Given the description of an element on the screen output the (x, y) to click on. 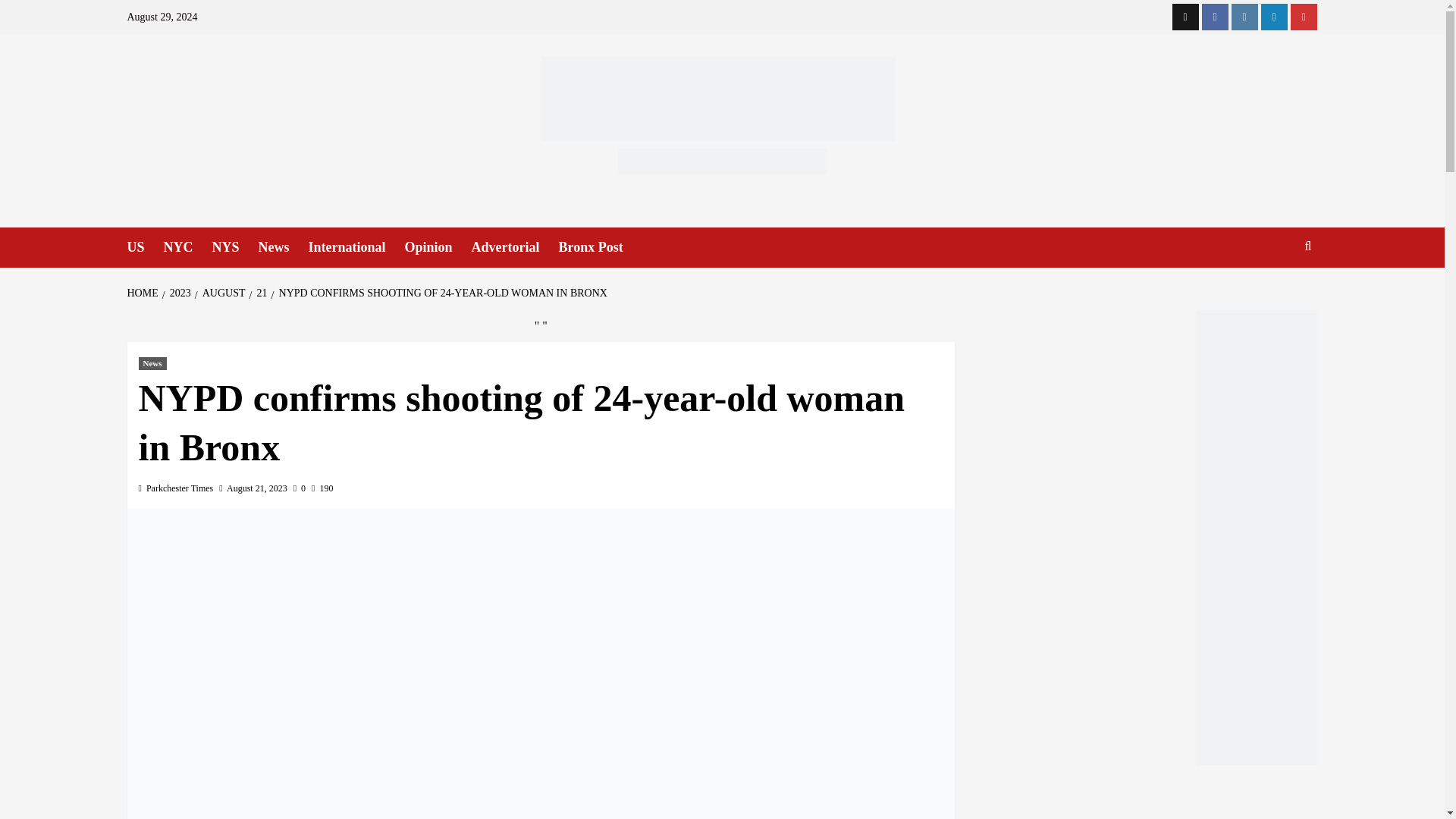
HOME (144, 292)
News (283, 247)
Advertorial (515, 247)
Search (1272, 293)
TALKING POLITICS (1141, 797)
Opinion (437, 247)
US (145, 247)
NYC (187, 247)
NYS (235, 247)
